Given the description of an element on the screen output the (x, y) to click on. 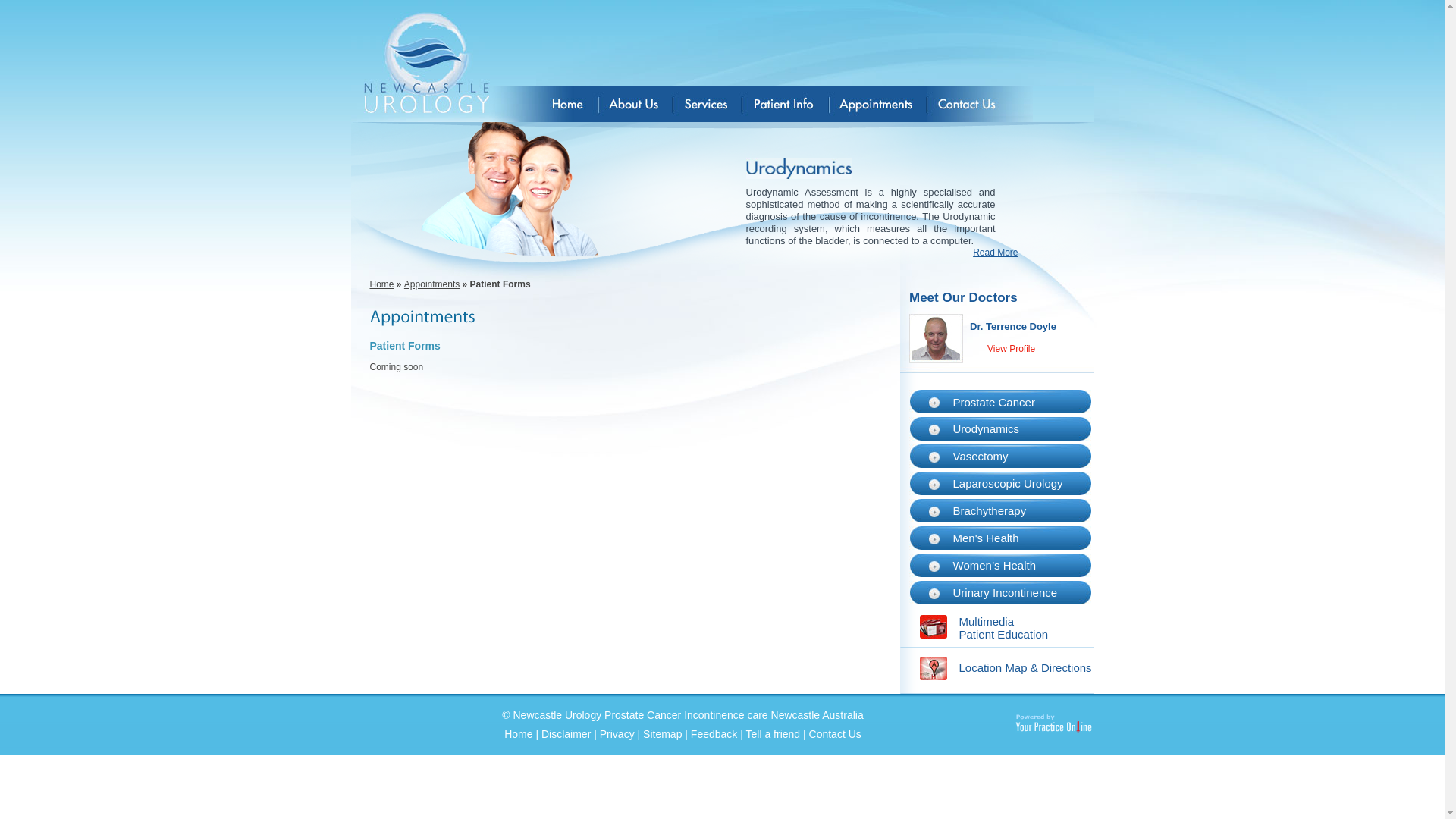
Feedback Element type: text (713, 734)
Prostate Cancer Element type: text (993, 401)
Contact Us Element type: text (835, 734)
Home Element type: text (518, 734)
Location Map & Directions Element type: text (1024, 667)
Vasectomy Element type: text (979, 455)
Home Element type: text (382, 284)
Read More Element type: text (994, 252)
Disclaimer Element type: text (565, 734)
Multimedia
Patient Education Element type: text (1003, 627)
Tell a friend Element type: text (773, 734)
Men's Health Element type: text (985, 537)
Sitemap Element type: text (662, 734)
Brachytherapy Element type: text (989, 510)
Laparoscopic Urology Element type: text (1007, 482)
Urinary Incontinence Element type: text (1004, 592)
Privacy Element type: text (616, 734)
Appointments Element type: text (431, 284)
Urodynamics Element type: text (985, 428)
